Given the description of an element on the screen output the (x, y) to click on. 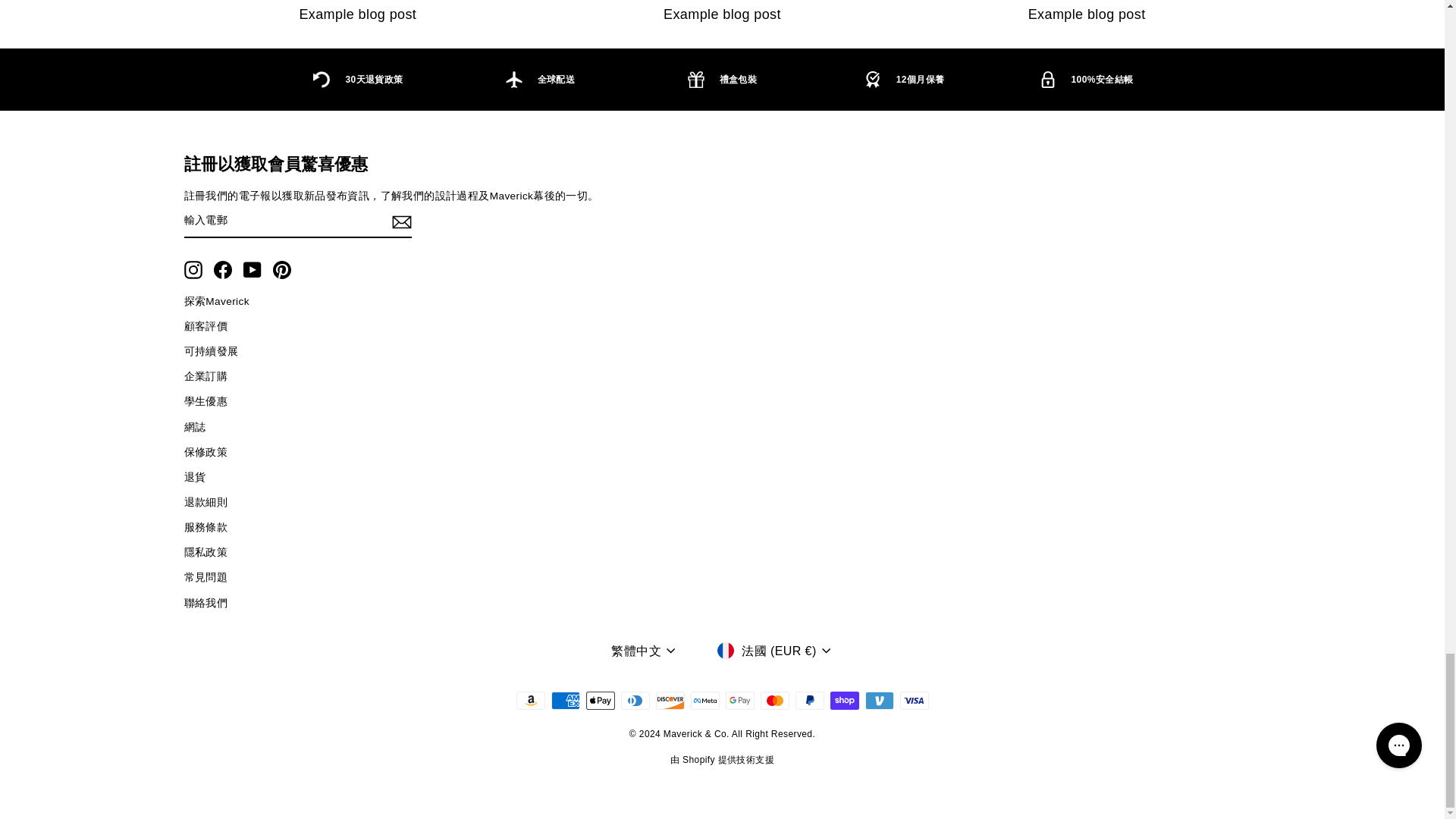
instagram (192, 270)
icon-email (400, 221)
